Given the description of an element on the screen output the (x, y) to click on. 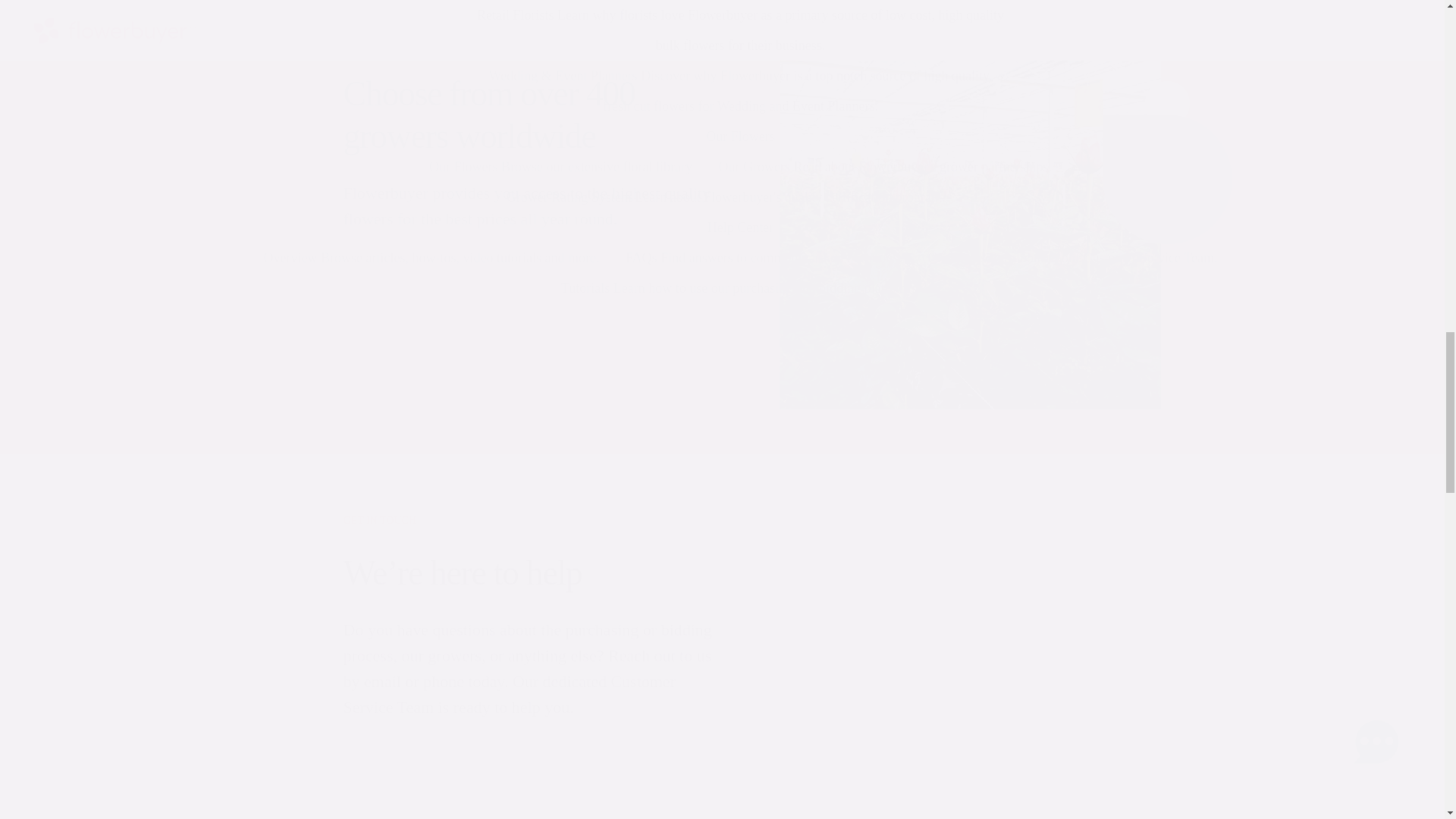
Learn More (429, 289)
Contact us (429, 777)
